Given the description of an element on the screen output the (x, y) to click on. 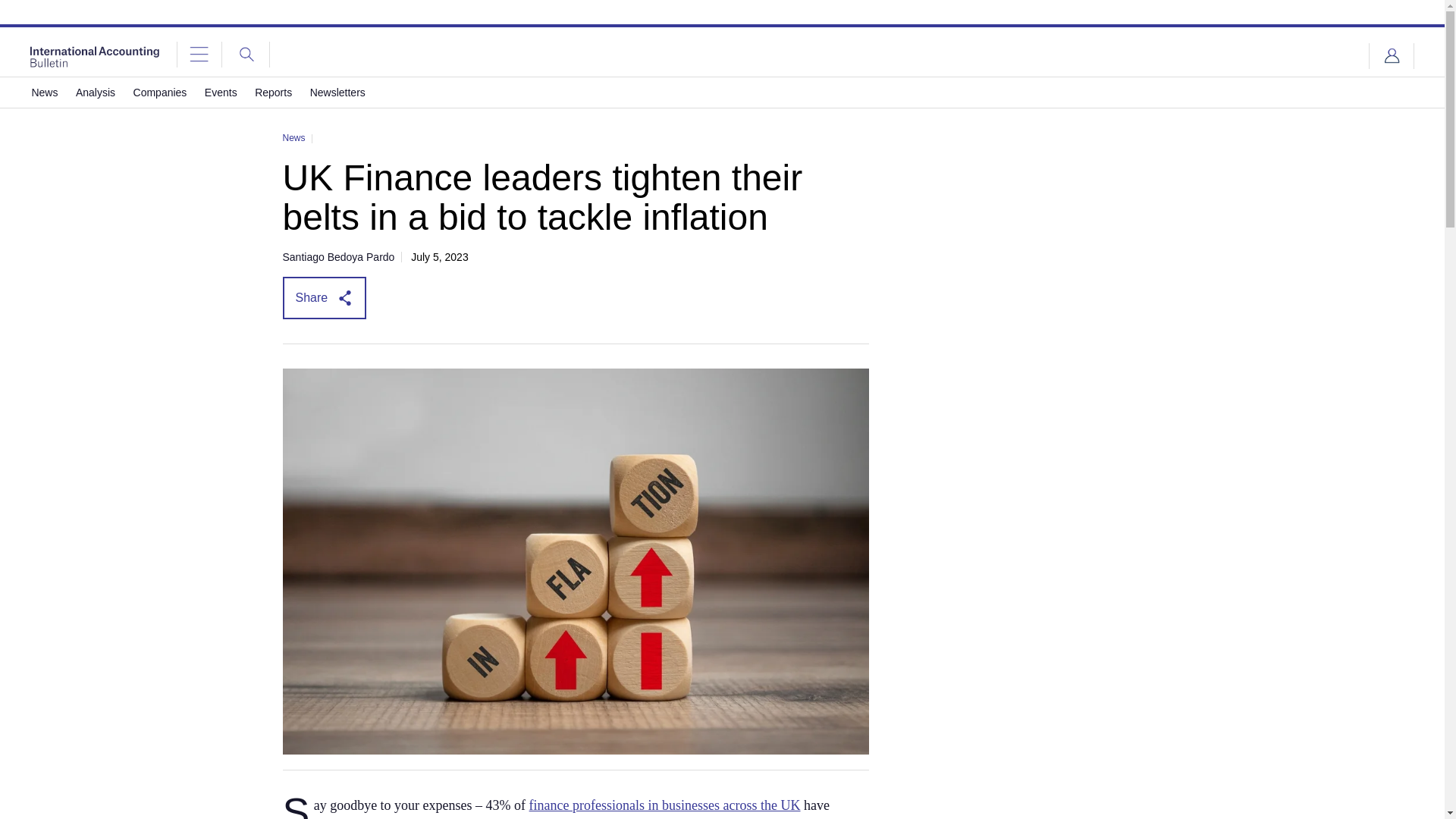
News (44, 91)
Analysis (95, 91)
Companies (160, 91)
Login (1391, 55)
